Given the description of an element on the screen output the (x, y) to click on. 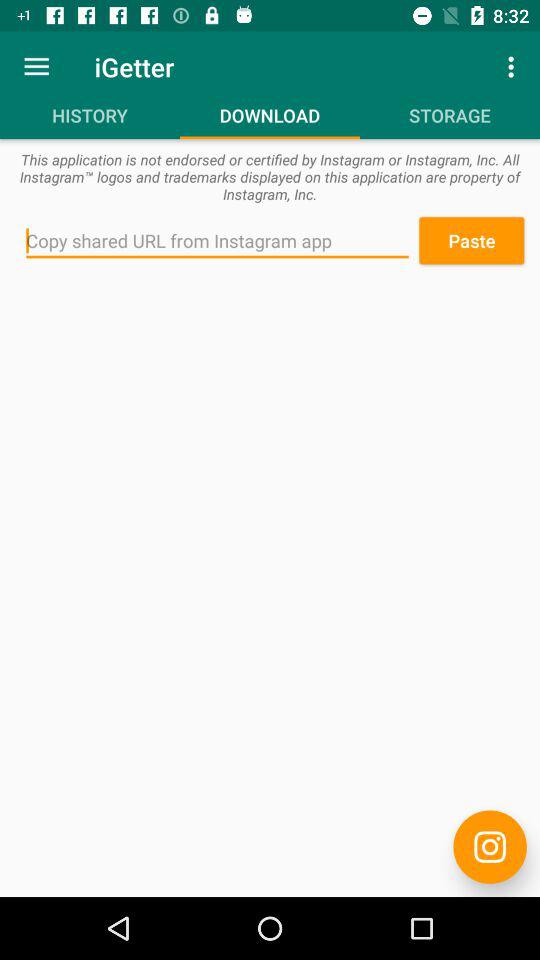
press icon next to paste (217, 241)
